Given the description of an element on the screen output the (x, y) to click on. 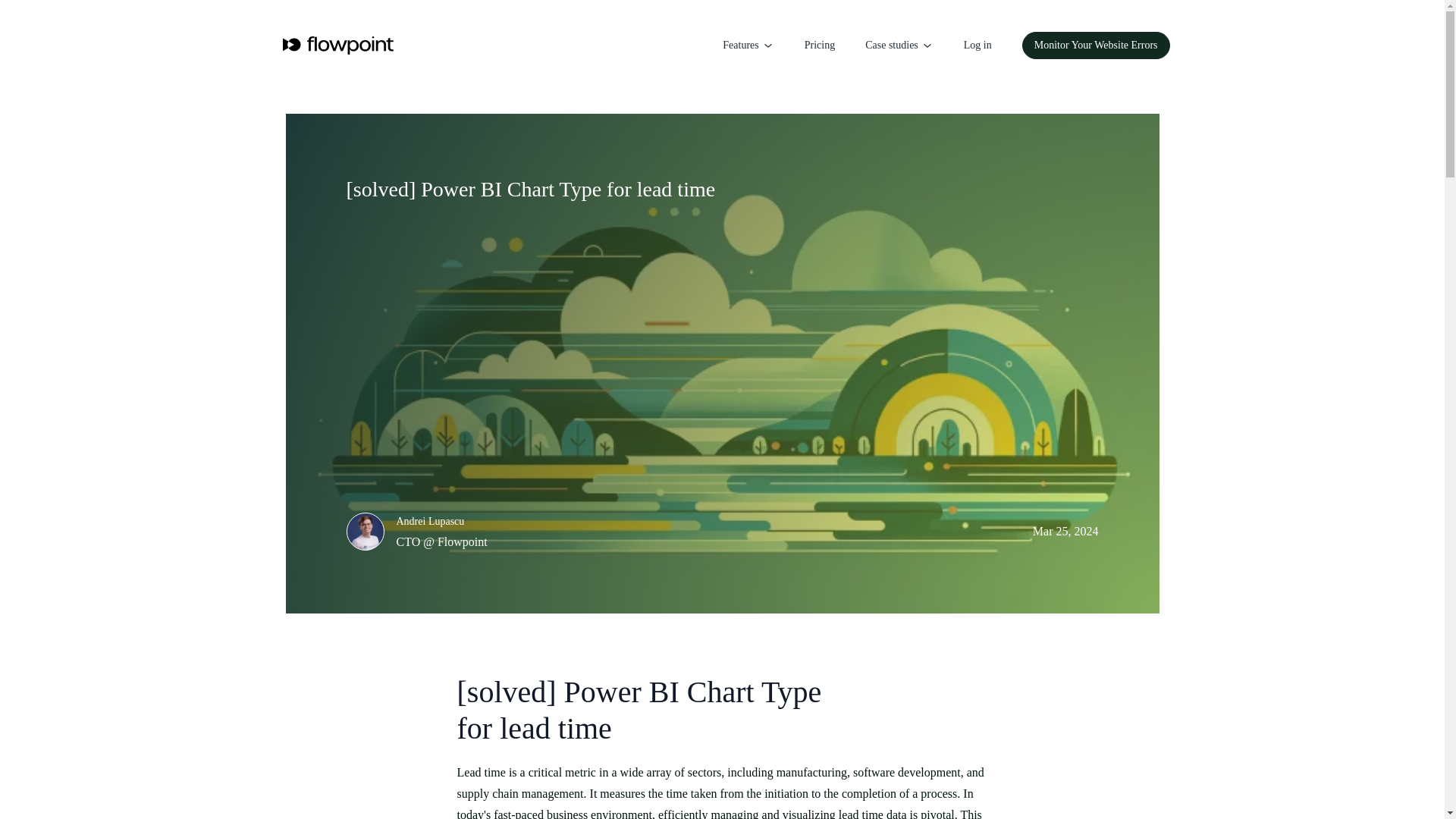
Pricing (819, 45)
Monitor Your Website Errors (1096, 44)
Log in (977, 45)
